Given the description of an element on the screen output the (x, y) to click on. 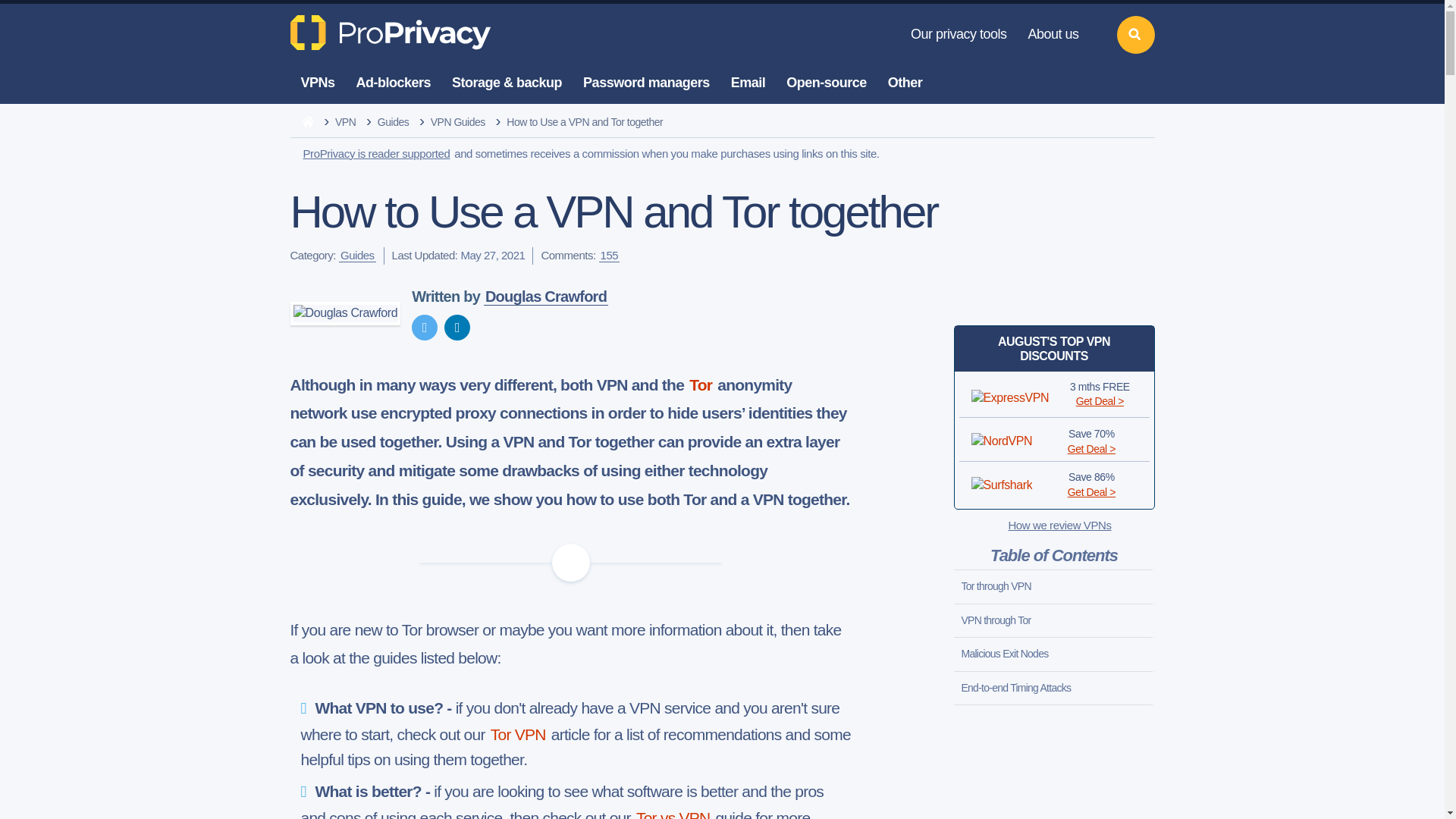
Our privacy tools (958, 34)
About us (1052, 34)
ExpressVPN (1009, 397)
Ad-blockers (394, 82)
Search (1135, 34)
Douglas Crawford (344, 313)
VPNs (317, 82)
NordVPN (1001, 441)
Surfshark (1001, 484)
Welcome to ProPrivacy! (392, 32)
